Given the description of an element on the screen output the (x, y) to click on. 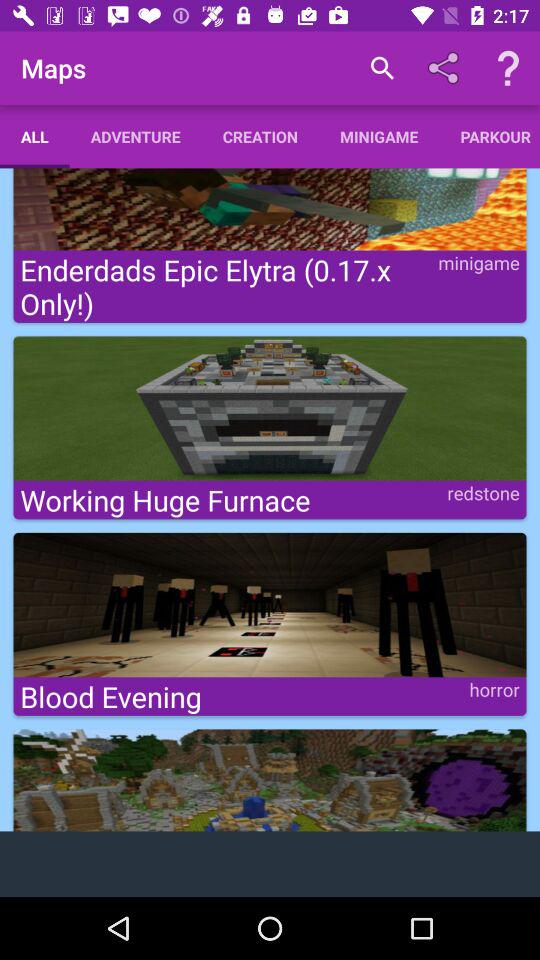
jump to creation app (260, 136)
